Given the description of an element on the screen output the (x, y) to click on. 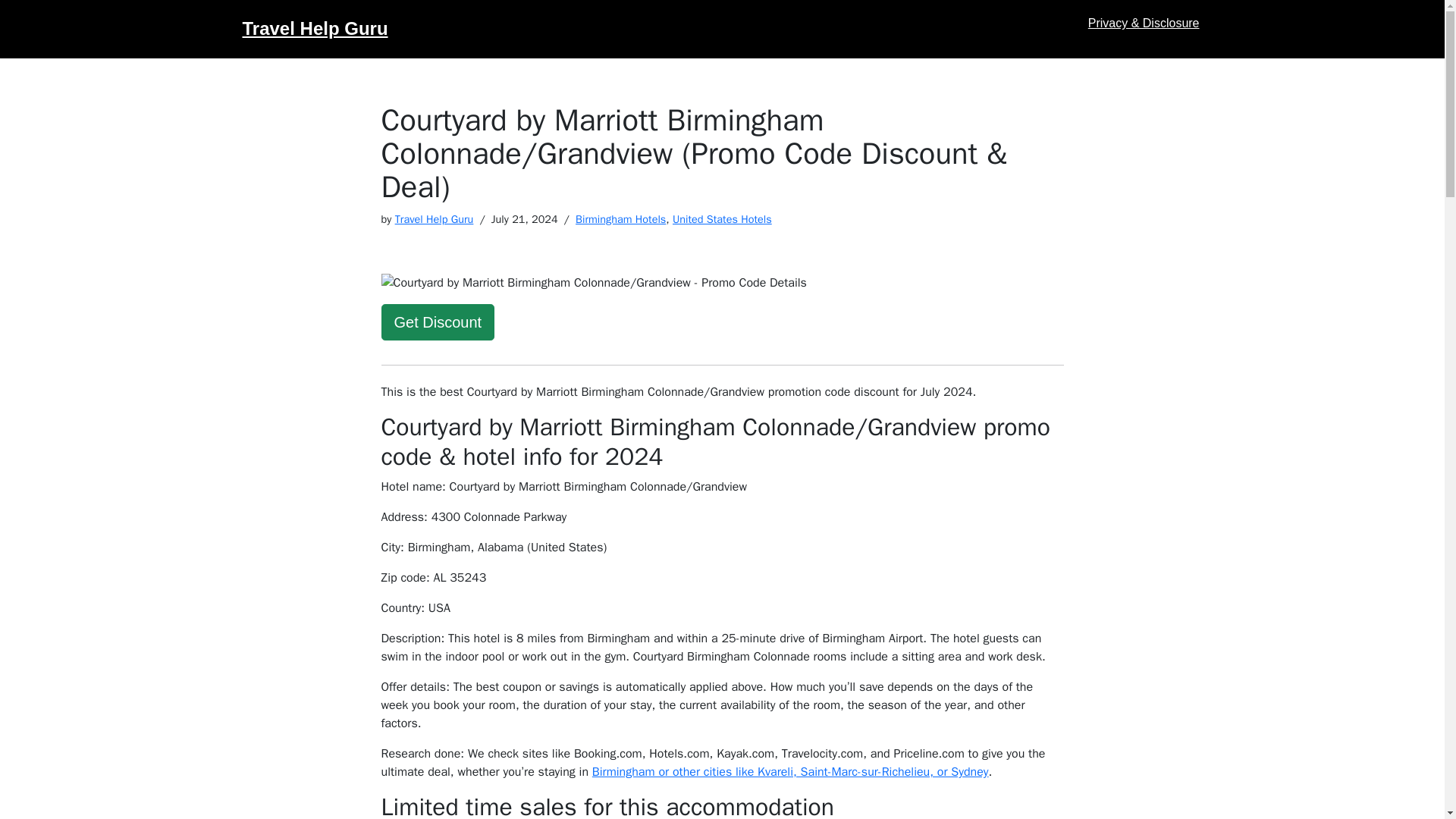
Travel Help Guru (315, 29)
Birmingham Hotels (620, 219)
Travel Help Guru (434, 219)
United States Hotels (721, 219)
Get Discount (437, 321)
Posts by Travel Help Guru (434, 219)
Skip to content (11, 31)
